Given the description of an element on the screen output the (x, y) to click on. 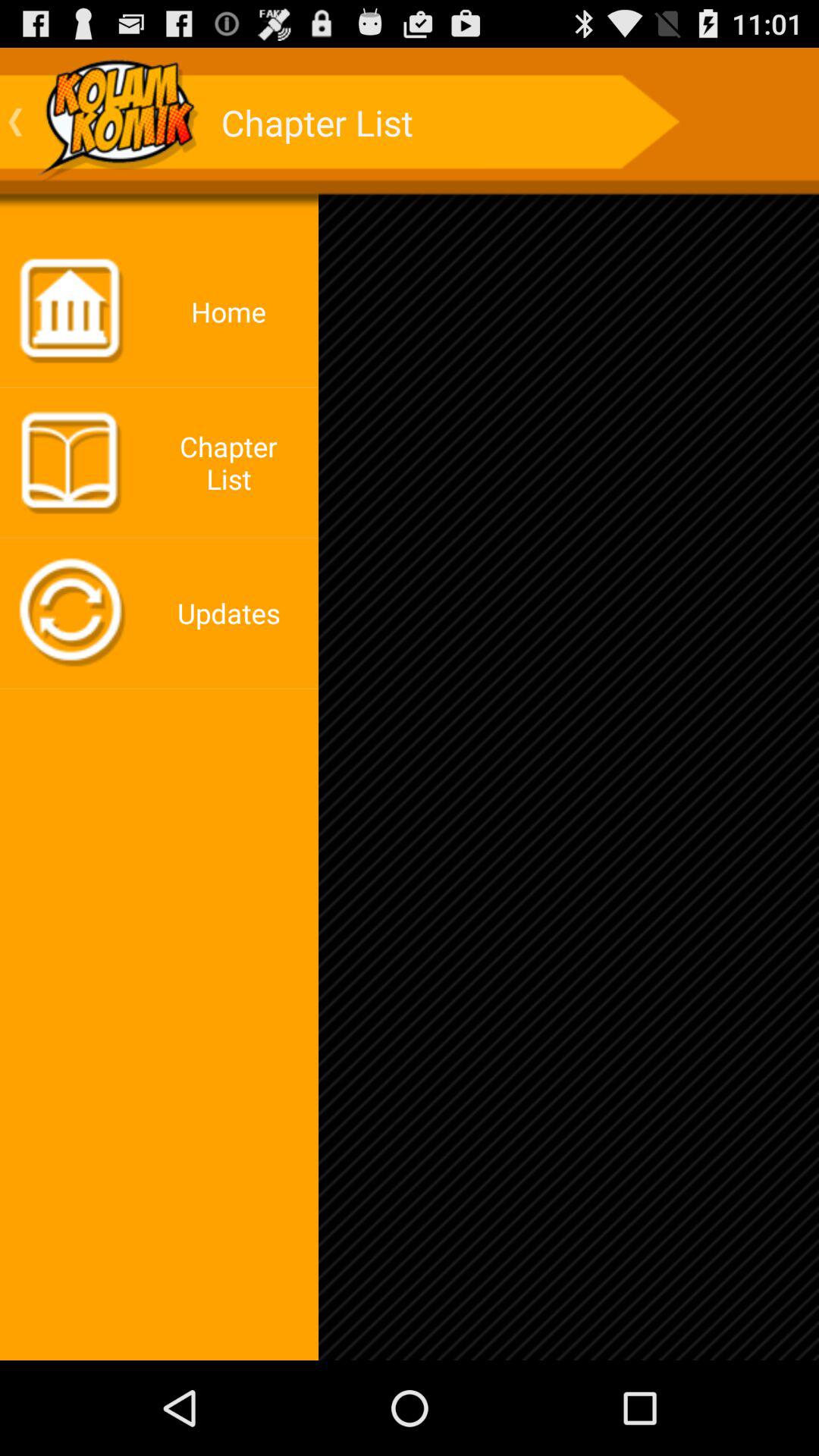
flip until updates (232, 613)
